Given the description of an element on the screen output the (x, y) to click on. 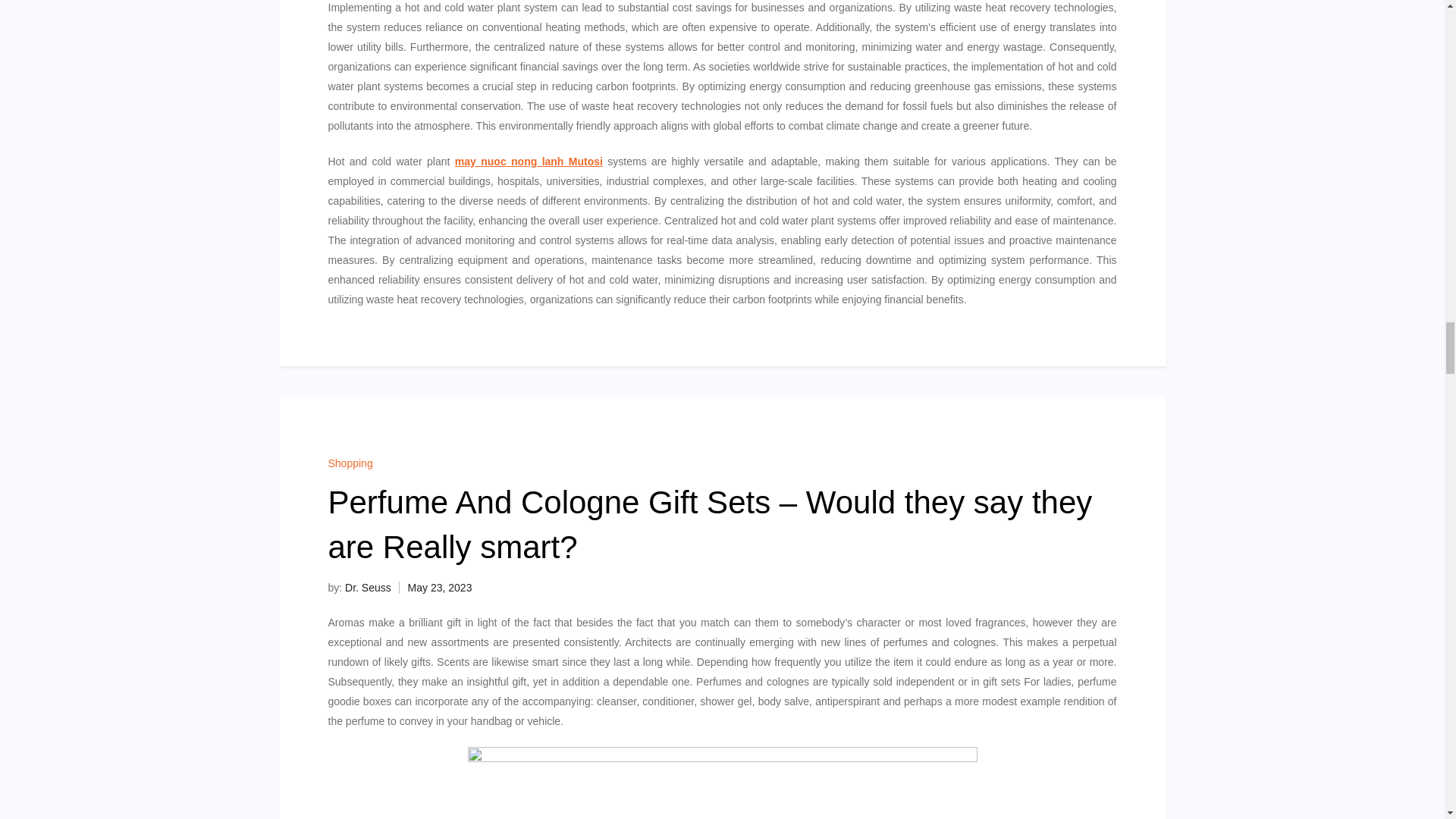
May 23, 2023 (439, 587)
may nuoc nong lanh Mutosi (528, 161)
Shopping (349, 463)
Dr. Seuss (368, 587)
